Given the description of an element on the screen output the (x, y) to click on. 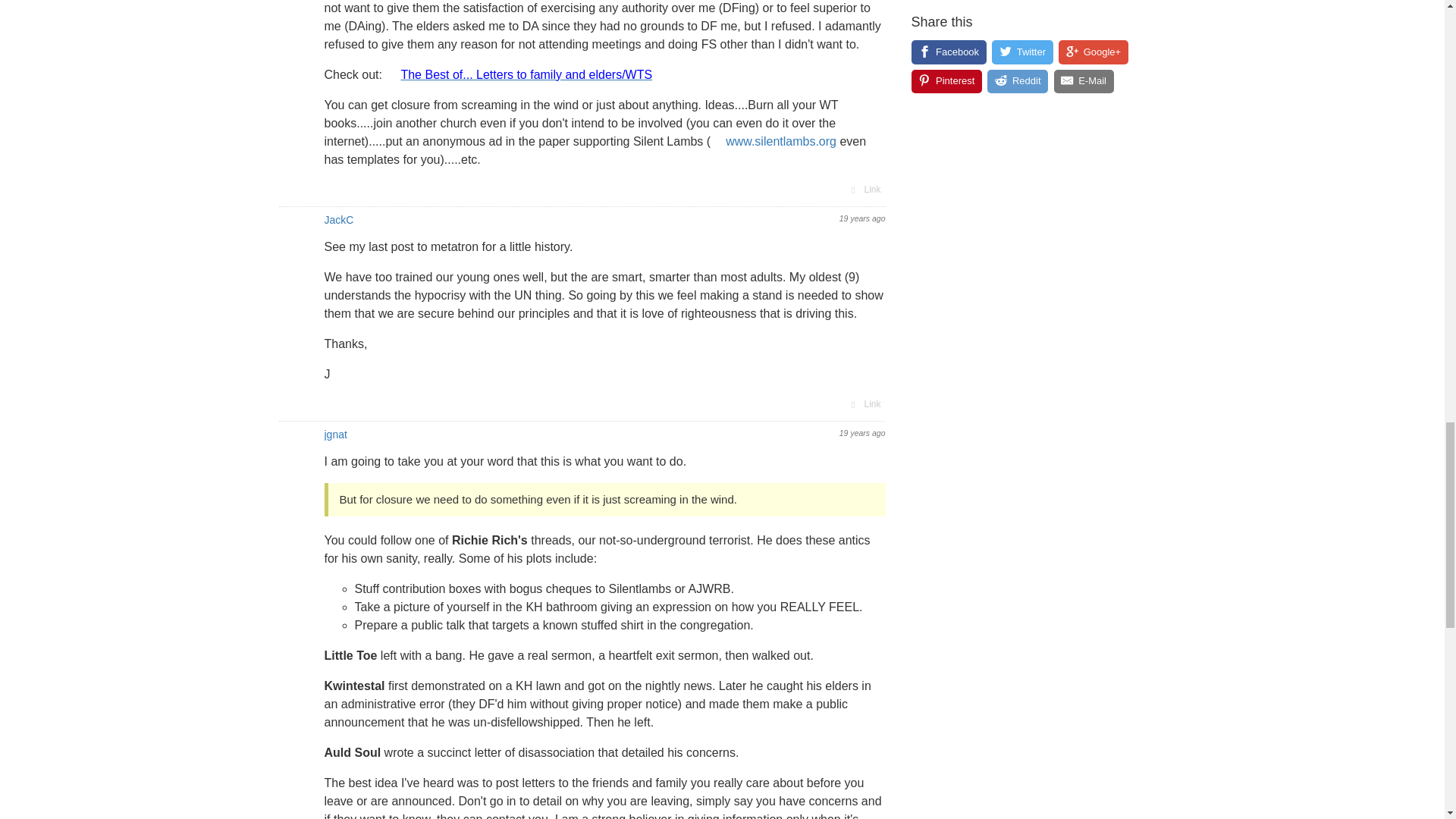
Link (864, 189)
JackC (338, 219)
www.silentlambs.org (772, 141)
jgnat (335, 434)
Fri, Dec 23 2005, 05:08:00 (862, 217)
Link (864, 403)
